Given the description of an element on the screen output the (x, y) to click on. 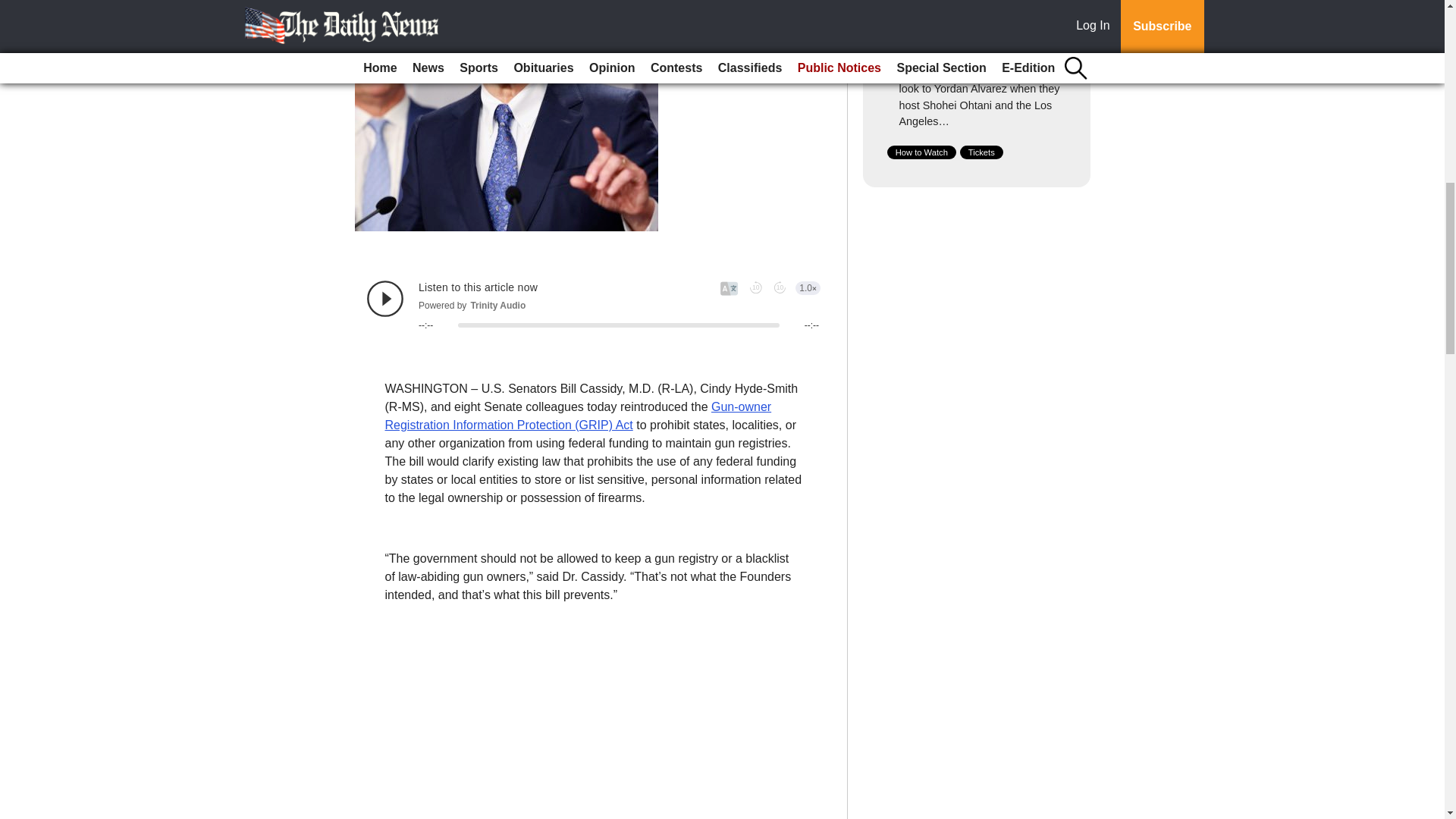
How to Watch (921, 151)
Tickets (981, 151)
Astros vs. Dodgers: Betting Preview for July 27 (970, 44)
Trinity Audio Player (592, 305)
